Given the description of an element on the screen output the (x, y) to click on. 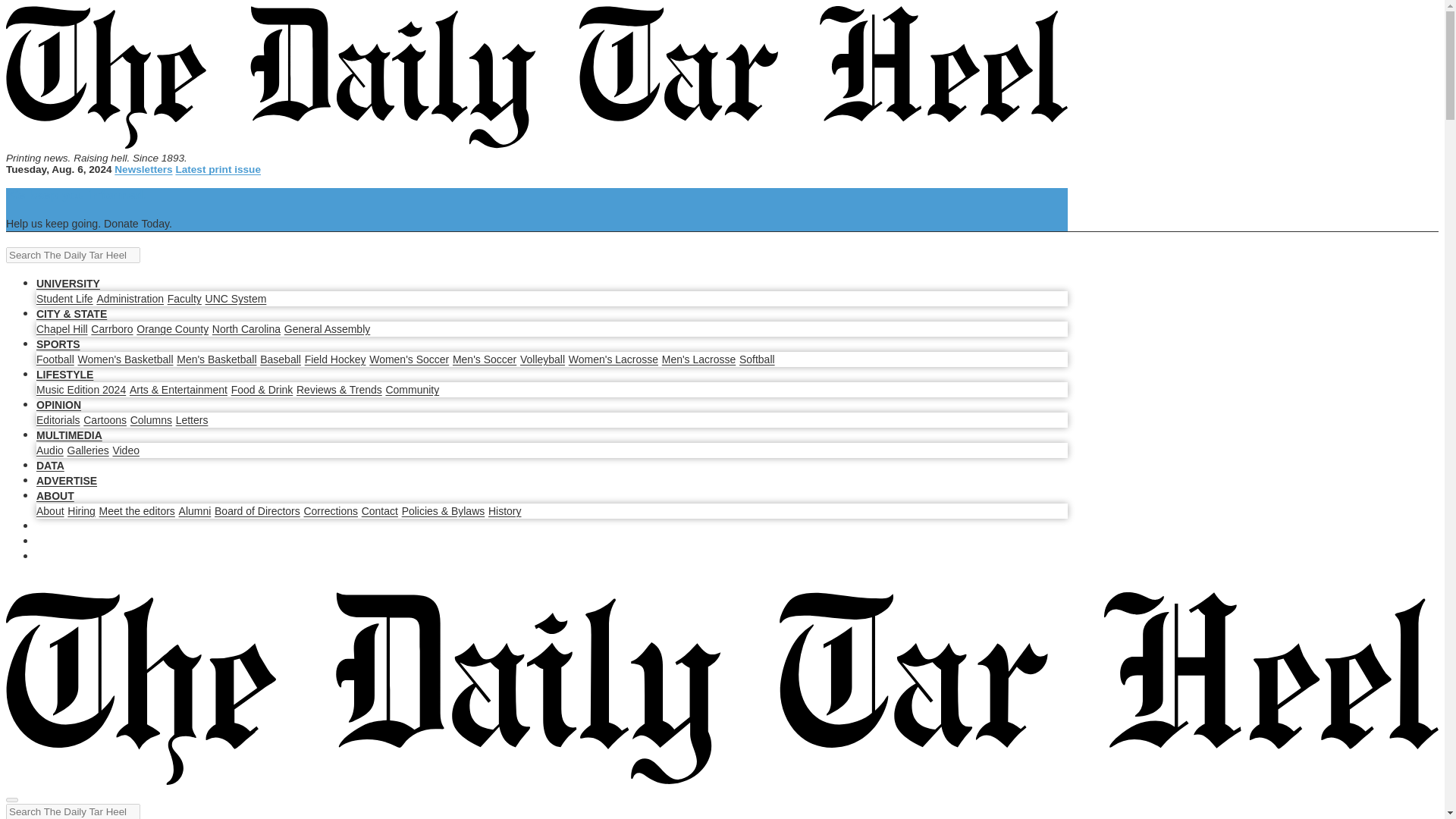
Men's Lacrosse (699, 358)
Administration (129, 298)
Cartoons (104, 419)
Latest print issue (217, 169)
We keep you informed. (76, 195)
Men's Soccer (484, 358)
Women's Basketball (125, 358)
Women's Soccer (408, 358)
SPORTS (58, 344)
Baseball (280, 358)
Chapel Hill (61, 328)
Men's Basketball (216, 358)
Softball (756, 358)
Volleyball (541, 358)
Faculty (184, 298)
